Given the description of an element on the screen output the (x, y) to click on. 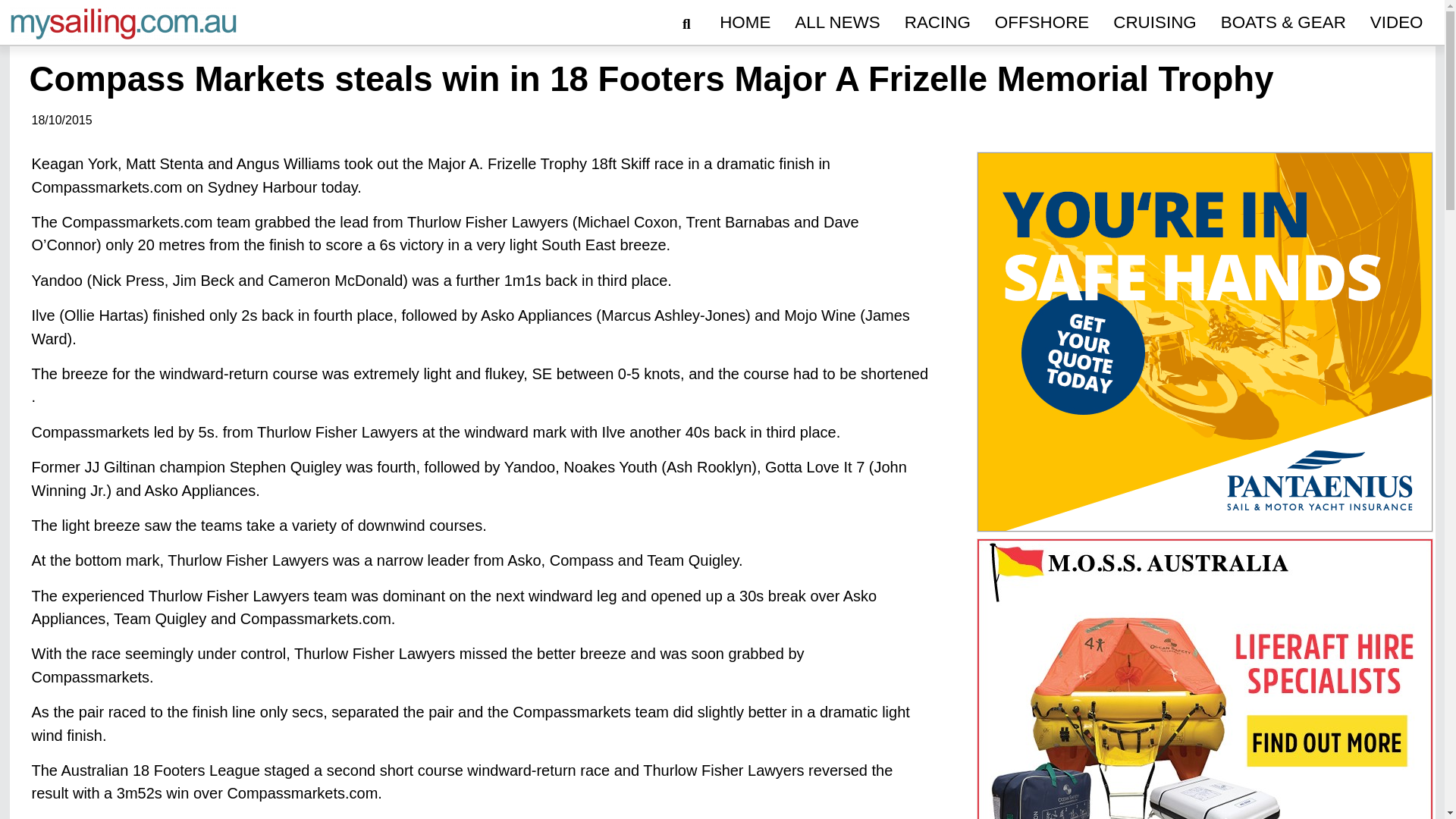
All News (837, 22)
ALL NEWS (837, 22)
VIDEO (1396, 22)
Offshore (1041, 22)
RACING (937, 22)
Racing (937, 22)
Home (744, 22)
CRUISING (1154, 22)
Video (1396, 22)
Cruising (1154, 22)
